Given the description of an element on the screen output the (x, y) to click on. 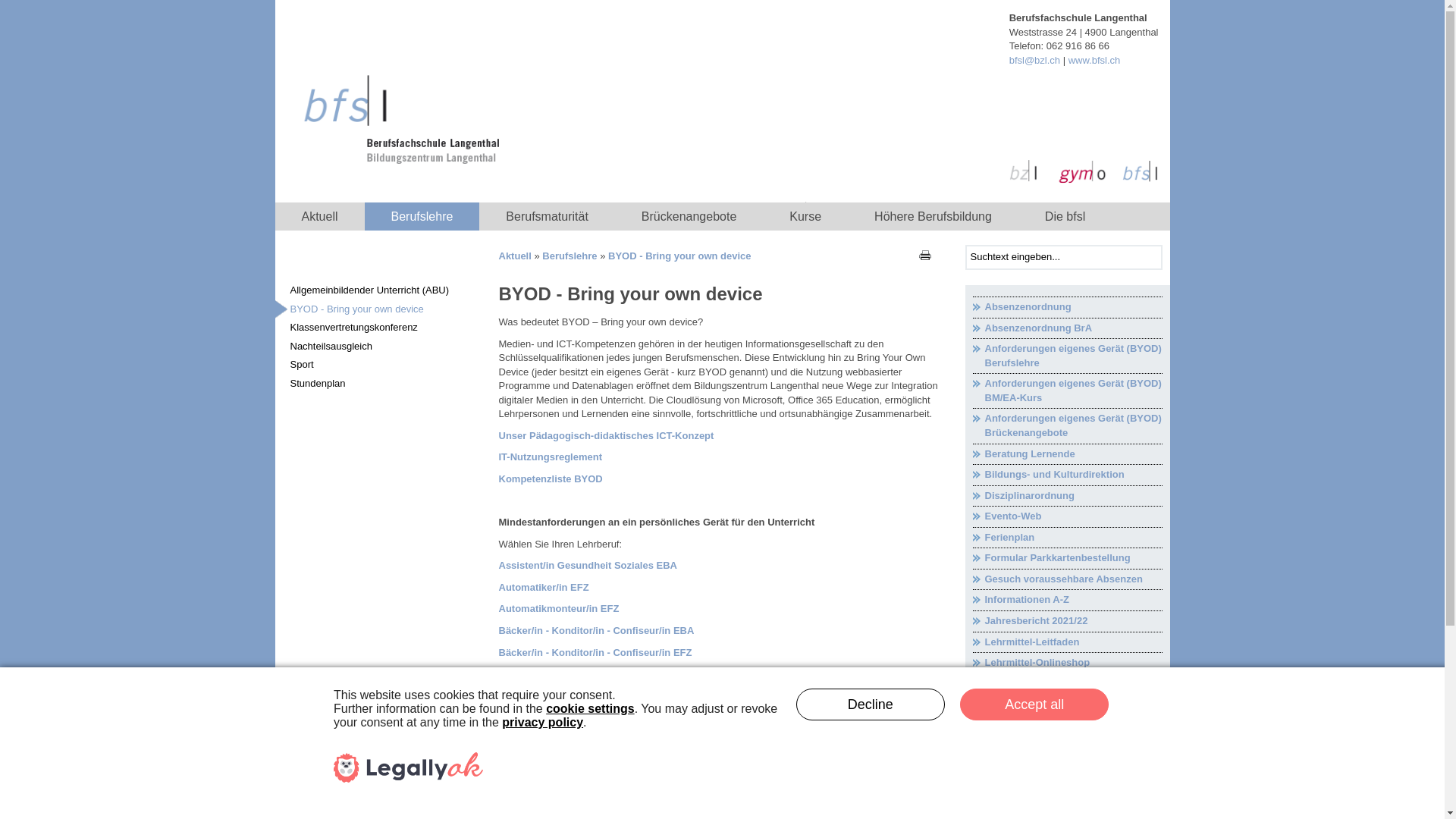
Schultage Schuljahr 23/24 Element type: text (1066, 725)
Kurse Element type: text (804, 217)
Bildungs- und Kulturdirektion Element type: text (1066, 474)
Assistent/in Gesundheit Soziales EBA Element type: text (587, 565)
Ferienplan Element type: text (1066, 537)
Detailhandelsassistent/in EBA Element type: text (569, 673)
Aktuell Element type: text (319, 217)
Detailhandelsfachfrau/mann EFZ Element type: text (575, 695)
Klassenvertretungskonferenz Element type: text (376, 327)
BYOD - Bring your own device Element type: text (679, 255)
Fachfrau/mann Gesundheit EFZ Element type: text (572, 738)
Absenzenordnung Element type: text (1066, 307)
Die bfsl Element type: text (1064, 217)
Beratung Lernende Element type: text (1066, 454)
Evento-Web Element type: text (1066, 516)
Automatiker/in EFZ Element type: text (543, 587)
Lerncoaching Element type: text (1066, 684)
Lehrmittel-Onlineshop Element type: text (1066, 662)
Berufslehre Element type: text (569, 255)
Automatikmonteur/in EFZ Element type: text (558, 608)
www.bfsl.ch Element type: text (1094, 59)
Allgemeinbildender Unterricht (ABU) Element type: text (376, 290)
Share-Point Element type: text (1066, 746)
Sport Element type: text (376, 364)
Stundenplan Element type: text (376, 383)
IT-Nutzungsreglement Element type: text (550, 456)
Stundenplan Element type: text (1066, 767)
Formular Parkkartenbestellung Element type: text (1066, 558)
bfsl@bzl.ch Element type: text (1034, 59)
Informationen A-Z Element type: text (1066, 600)
Lehrmittel-Leitfaden Element type: text (1066, 642)
Gesuch voraussehbare Absenzen Element type: text (1066, 579)
Fachfrau/mann Betreuung Kind EFZ Element type: text (582, 716)
BYOD - Bring your own device Element type: text (376, 309)
Jahresbericht 2021/22 Element type: text (1066, 621)
Berufslehre Element type: text (422, 217)
Konstrukteur/in EFZ Element type: text (545, 781)
Absenzenordnung BrA Element type: text (1066, 328)
Kauffrau/mann EFZ Element type: text (543, 759)
Kompetenzliste BYOD Element type: text (550, 478)
Aktuell Element type: text (514, 255)
Nachteilsausgleich Element type: text (376, 346)
Disziplinarordnung Element type: text (1066, 496)
